Given the description of an element on the screen output the (x, y) to click on. 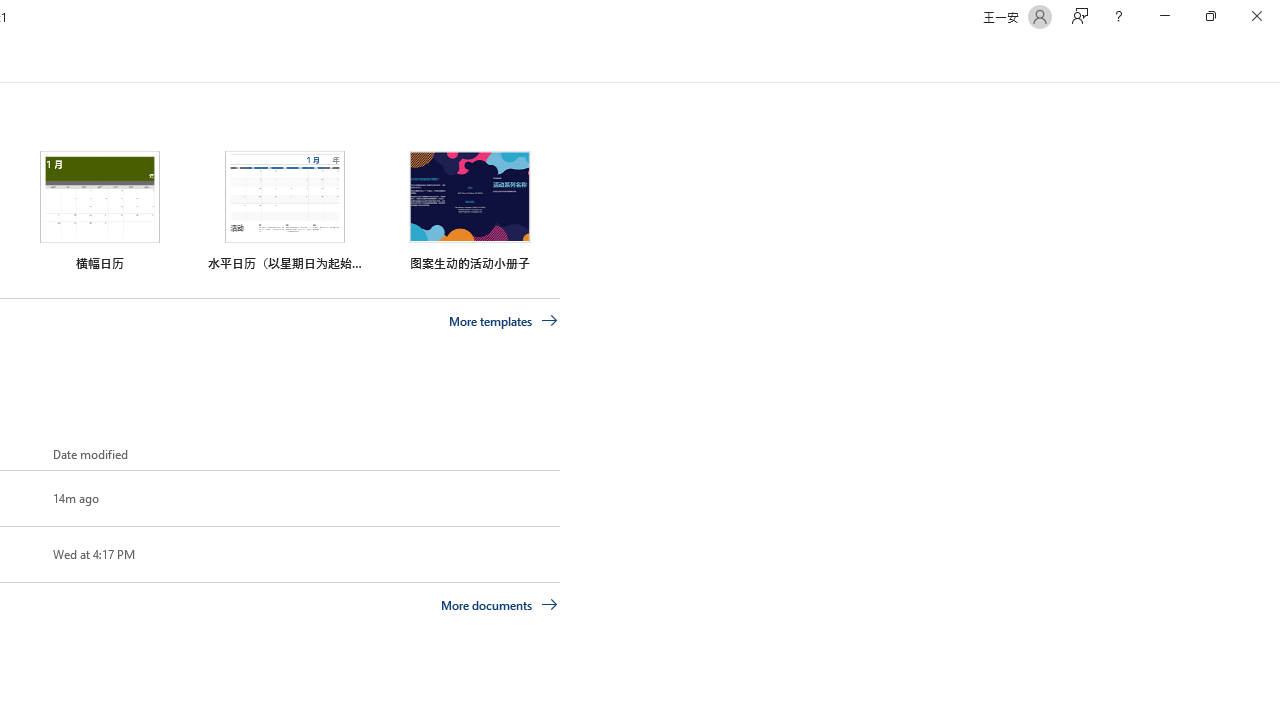
More templates (503, 321)
Pin this item to the list (20, 553)
More documents (499, 604)
